Given the description of an element on the screen output the (x, y) to click on. 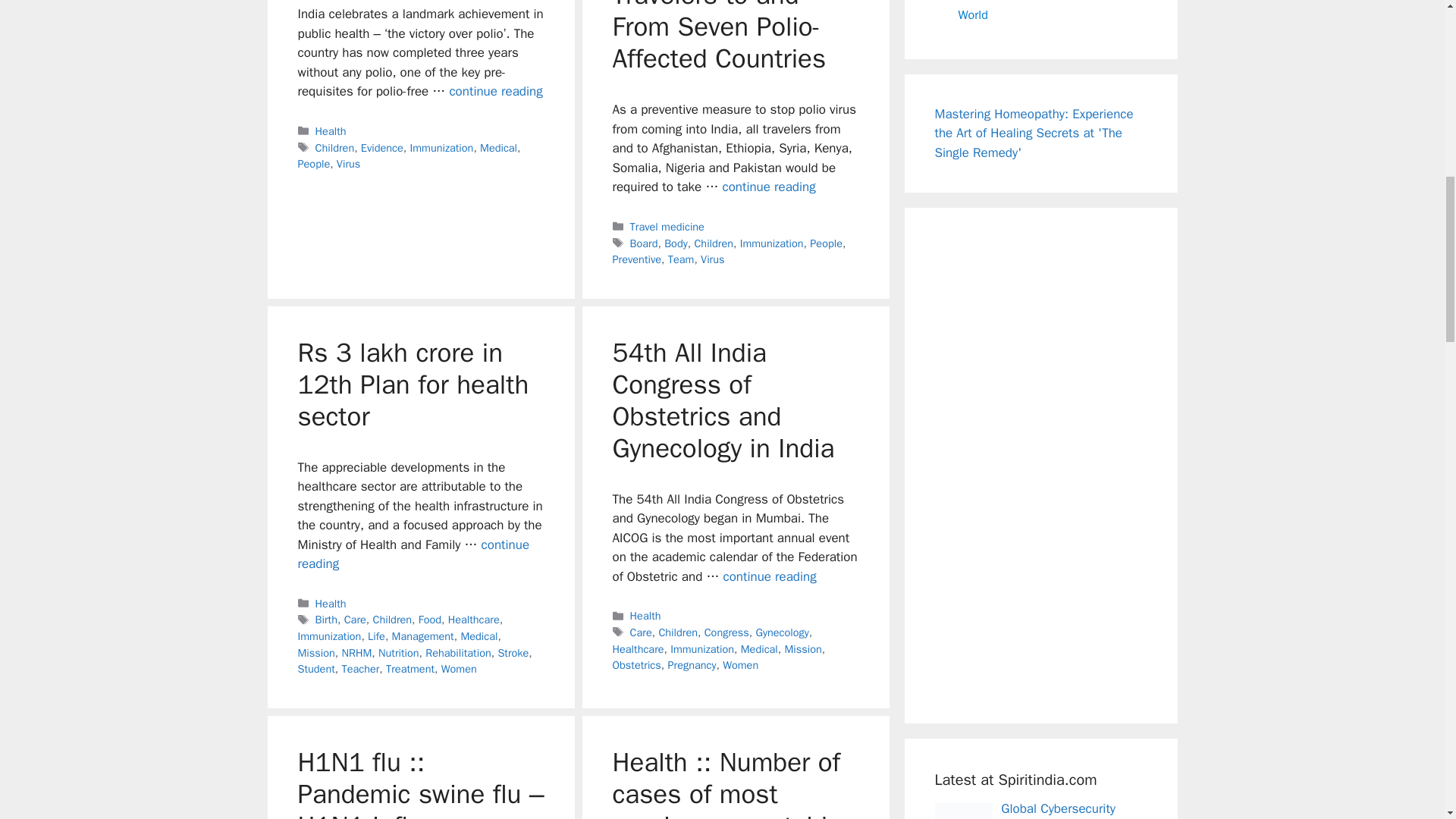
continue reading (494, 91)
Immunization (441, 147)
Children (335, 147)
Rs 3 lakh crore in 12th Plan for health sector (413, 554)
continue reading (768, 186)
Travel medicine (667, 226)
Medical (498, 147)
Evidence (382, 147)
Health (330, 131)
Virus (347, 163)
People (313, 163)
